Given the description of an element on the screen output the (x, y) to click on. 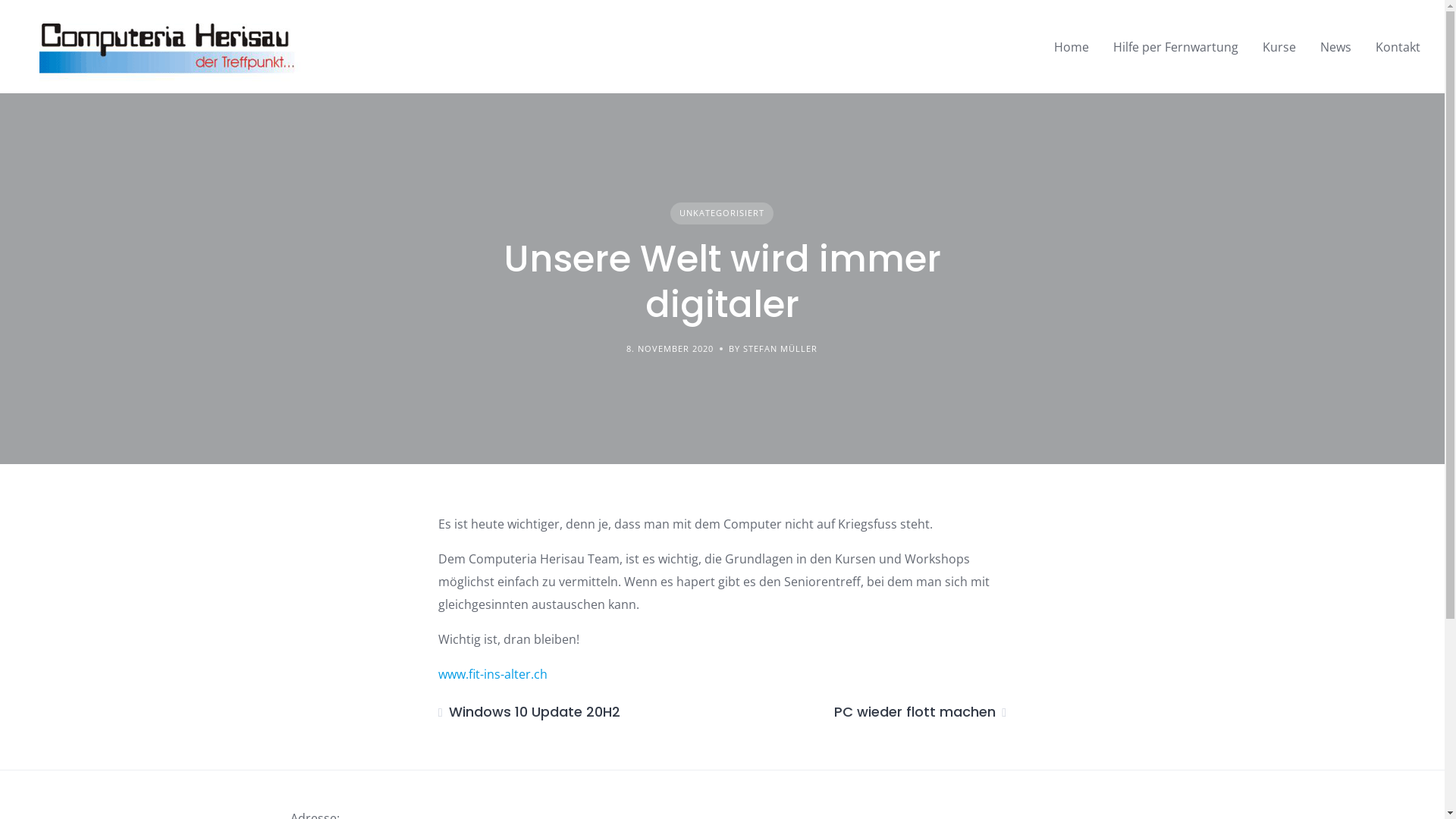
Kurse Element type: text (1278, 46)
PC wieder flott machen Element type: text (920, 711)
Kontakt Element type: text (1397, 46)
www.fit-ins-alter.ch Element type: text (492, 673)
Windows 10 Update 20H2 Element type: text (529, 711)
UNKATEGORISIERT Element type: text (721, 213)
Home Element type: text (1071, 46)
Hilfe per Fernwartung Element type: text (1175, 46)
News Element type: text (1335, 46)
